Given the description of an element on the screen output the (x, y) to click on. 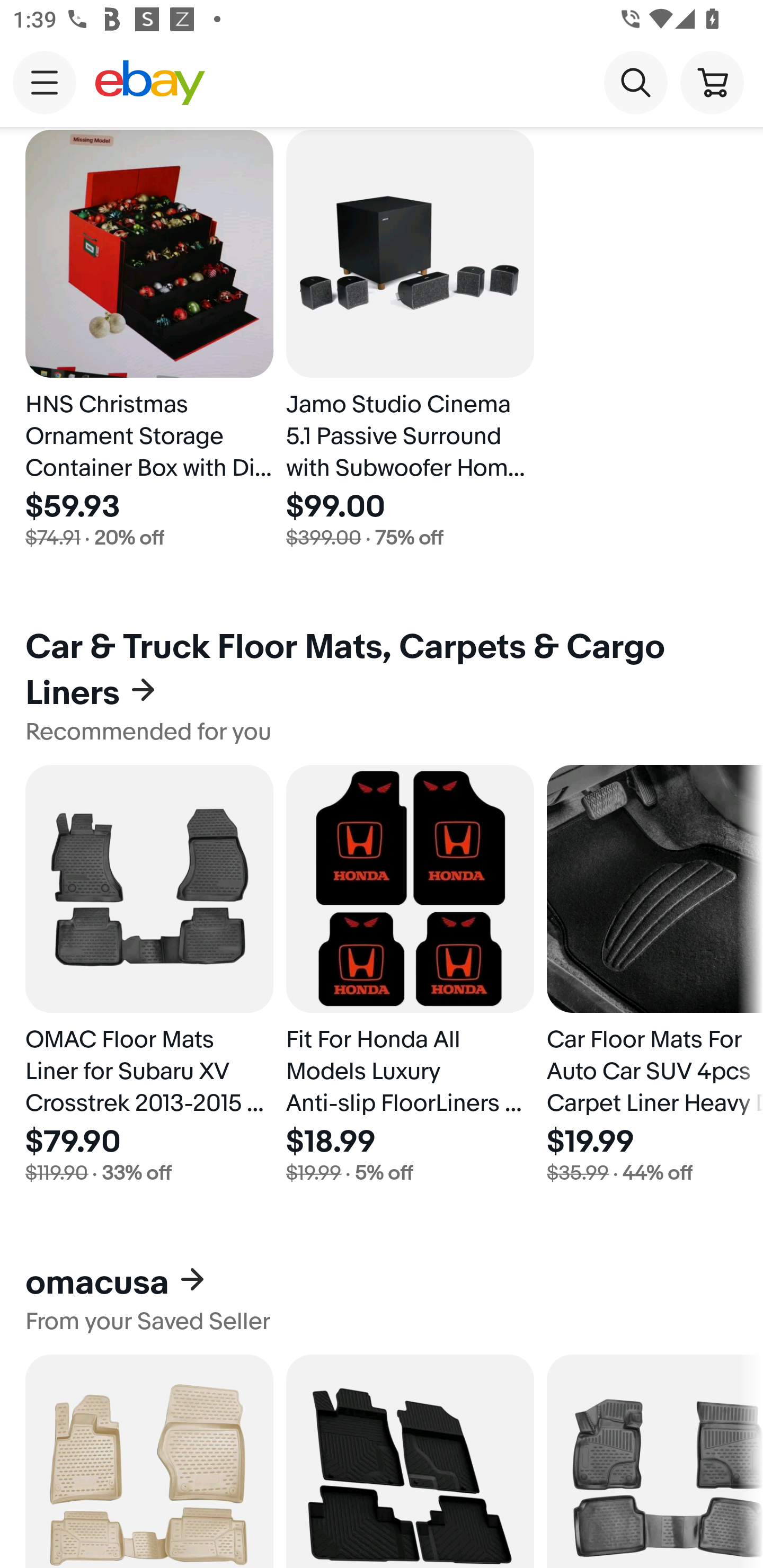
Main navigation, open (44, 82)
Search (635, 81)
Cart button shopping cart (711, 81)
omacusa   From your Saved Seller (381, 1298)
